Given the description of an element on the screen output the (x, y) to click on. 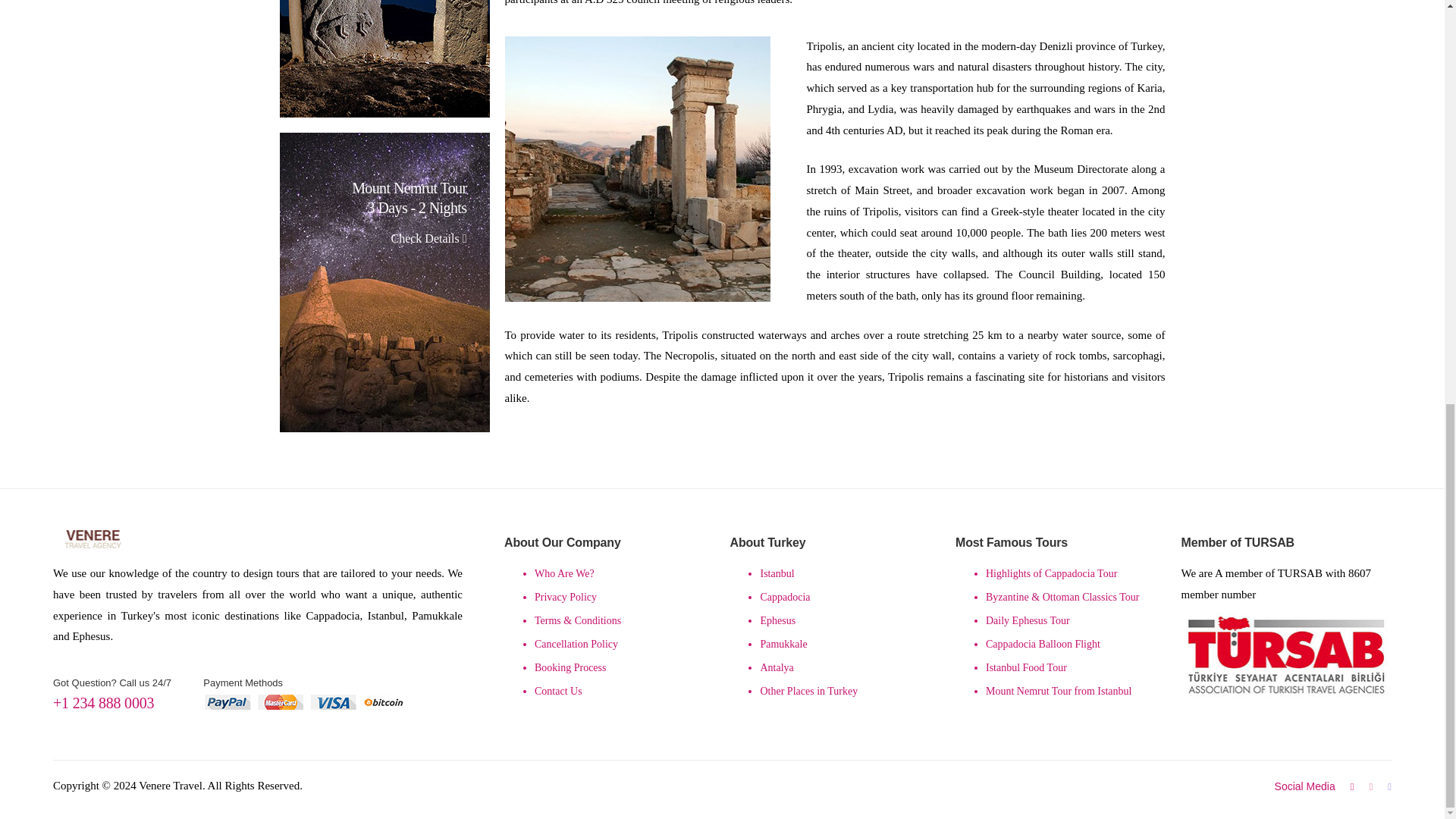
Eastern Turkey Tour (384, 58)
Mount Nemrut Tour (384, 282)
Facebook (1389, 786)
Tripolis Ancient City (637, 169)
We are A member of TURSAB with 8607 member number (1285, 654)
Cappadocia and Turkey Tours (92, 538)
